Given the description of an element on the screen output the (x, y) to click on. 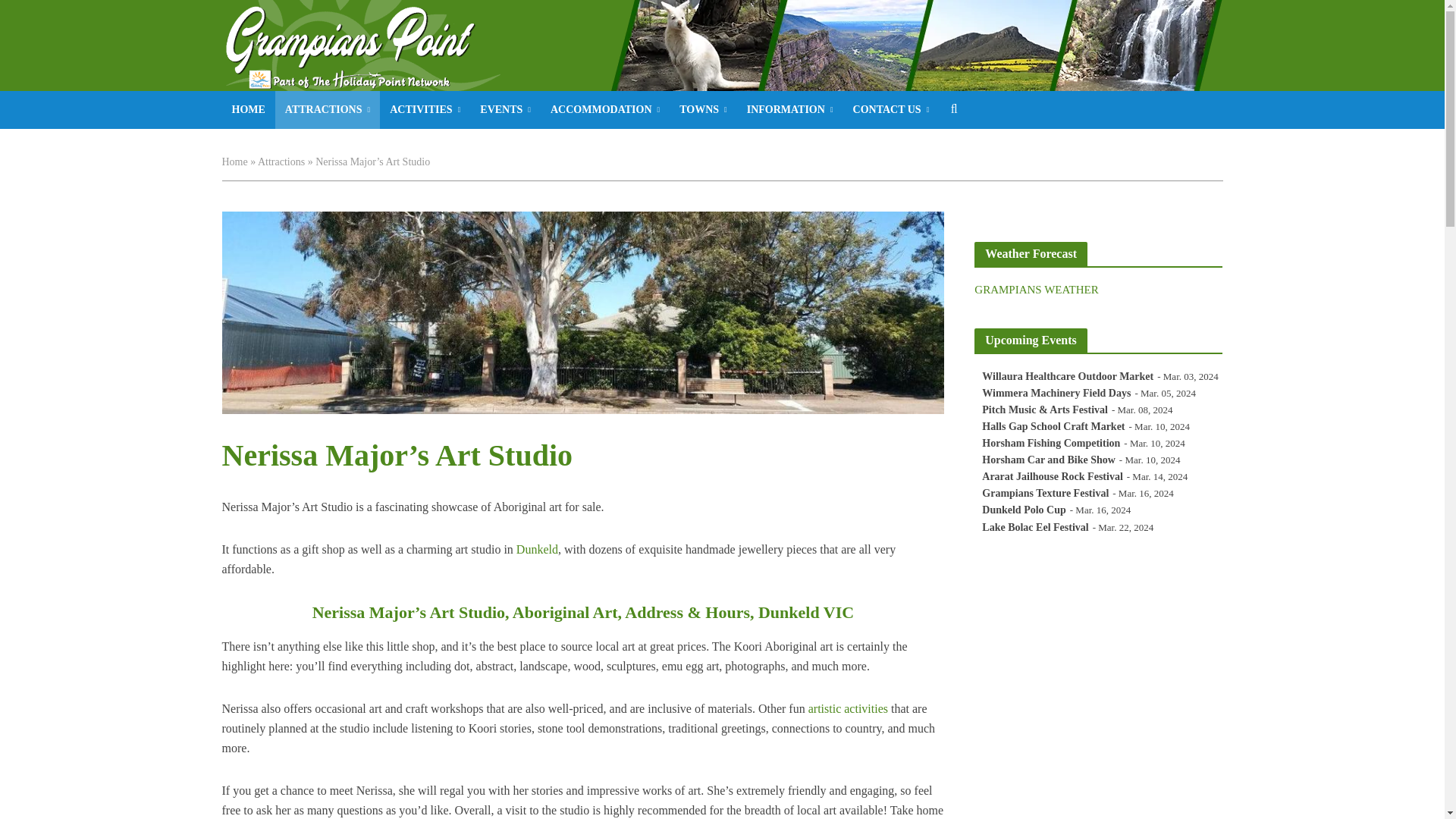
HOME (248, 109)
ATTRACTIONS (327, 109)
